Given the description of an element on the screen output the (x, y) to click on. 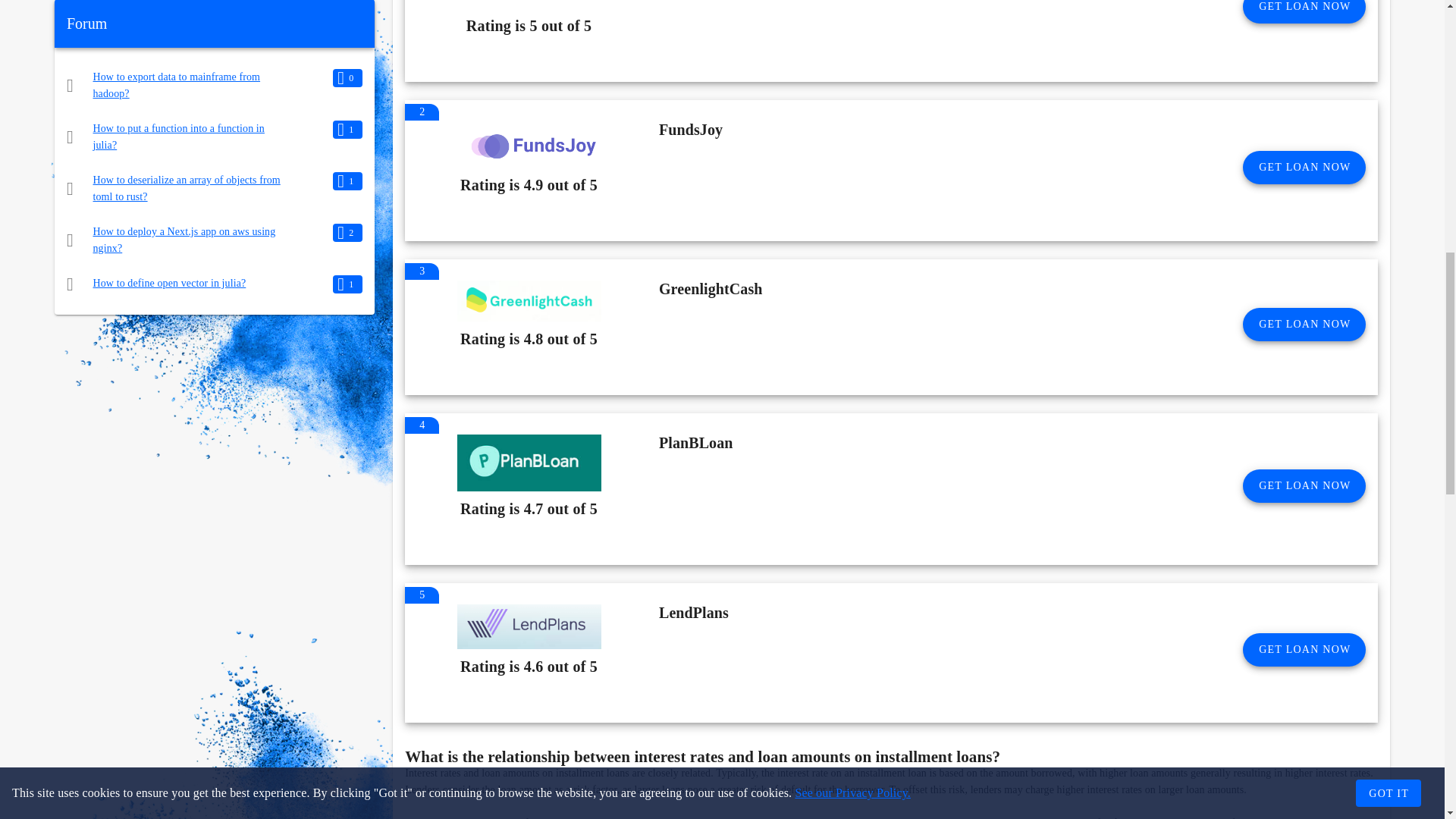
How to deserialize an array of objects from toml to rust? (187, 188)
GET LOAN NOW (1304, 324)
How to deploy a Next.js app on aws using nginx? (184, 239)
GET LOAN NOW (1304, 649)
How to export data to mainframe from hadoop? (176, 85)
How to define open vector in julia? (169, 283)
How to put a function into a function in julia? (178, 136)
How to define open vector in julia? (169, 283)
How to deploy a Next.js app on aws using nginx? (184, 239)
GET LOAN NOW (1304, 167)
How to export data to mainframe from hadoop? (176, 85)
GET LOAN NOW (1304, 11)
How to deserialize an array of objects from toml to rust? (187, 188)
How to put a function into a function in julia? (178, 136)
GET LOAN NOW (1304, 485)
